Given the description of an element on the screen output the (x, y) to click on. 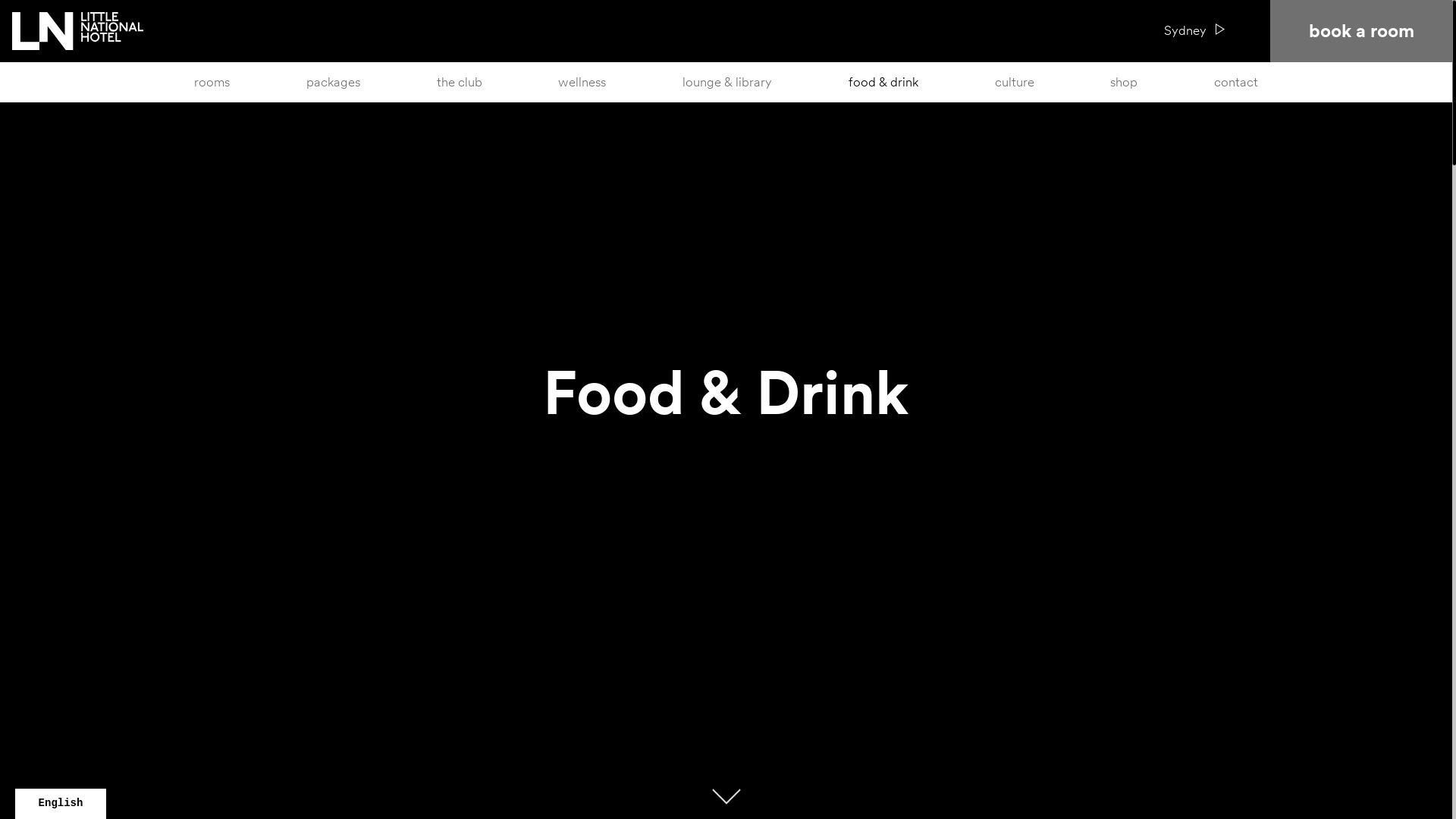
English Element type: text (60, 803)
book a room Element type: text (1361, 31)
shop Element type: text (1123, 82)
culture Element type: text (1014, 82)
Sydney   Element type: text (1194, 30)
packages Element type: text (333, 82)
the club Element type: text (459, 82)
contact Element type: text (1235, 82)
food & drink Element type: text (883, 82)
lounge & library Element type: text (727, 82)
rooms Element type: text (211, 82)
wellness Element type: text (582, 82)
